Given the description of an element on the screen output the (x, y) to click on. 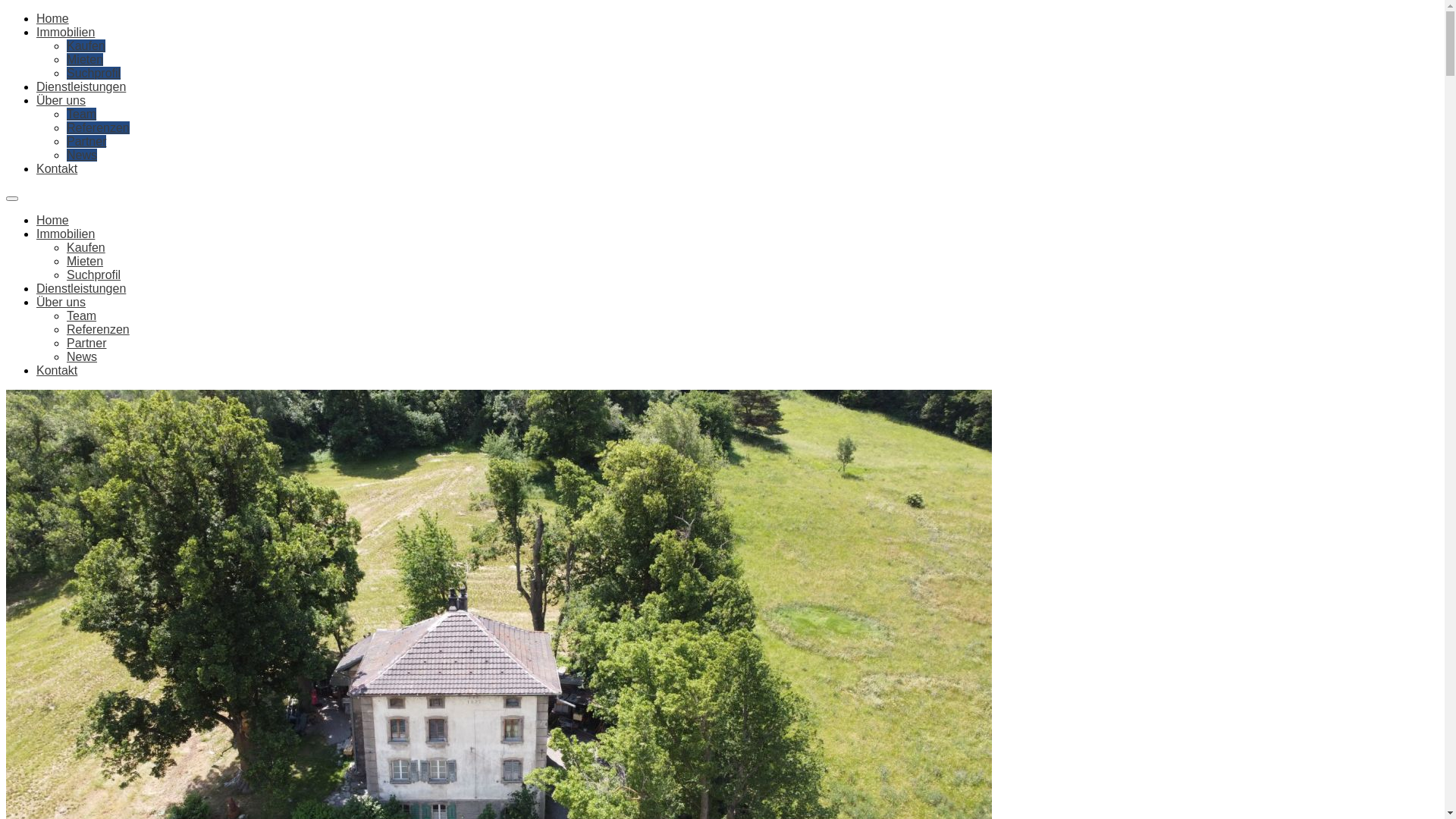
Partner Element type: text (86, 140)
Home Element type: text (52, 219)
Kontakt Element type: text (56, 168)
Mieten Element type: text (84, 260)
Dienstleistungen Element type: text (80, 86)
Referenzen Element type: text (97, 127)
Kaufen Element type: text (85, 45)
Immobilien Element type: text (65, 233)
Kaufen Element type: text (85, 247)
Team Element type: text (81, 315)
Immobilien Element type: text (65, 31)
Suchprofil Element type: text (93, 72)
Team Element type: text (81, 113)
Suchprofil Element type: text (93, 274)
Partner Element type: text (86, 342)
News Element type: text (81, 356)
Mieten Element type: text (84, 59)
Dienstleistungen Element type: text (80, 288)
Kontakt Element type: text (56, 370)
News Element type: text (81, 154)
Referenzen Element type: text (97, 329)
Home Element type: text (52, 18)
